Given the description of an element on the screen output the (x, y) to click on. 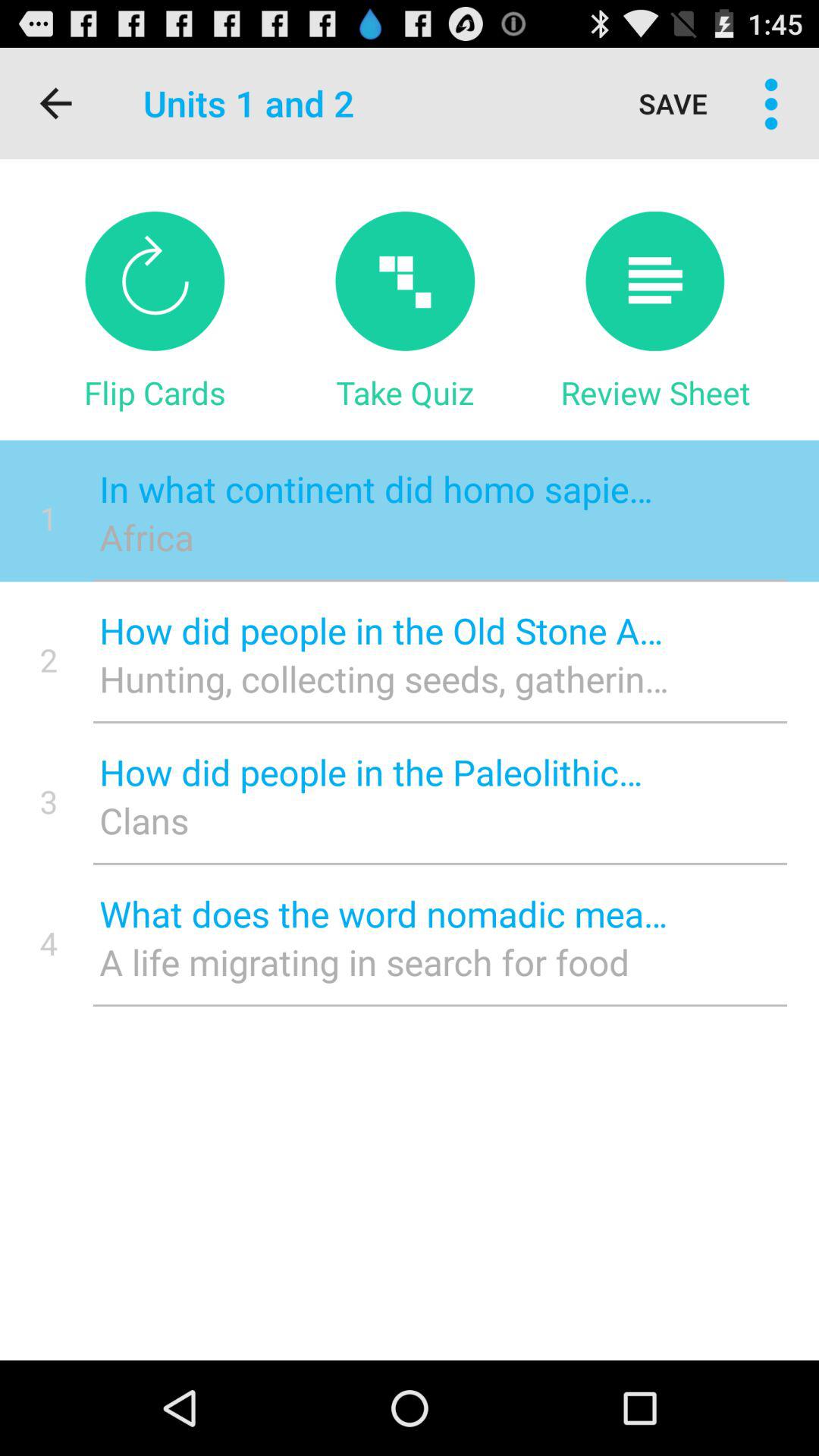
press the icon above the 4 (48, 800)
